Given the description of an element on the screen output the (x, y) to click on. 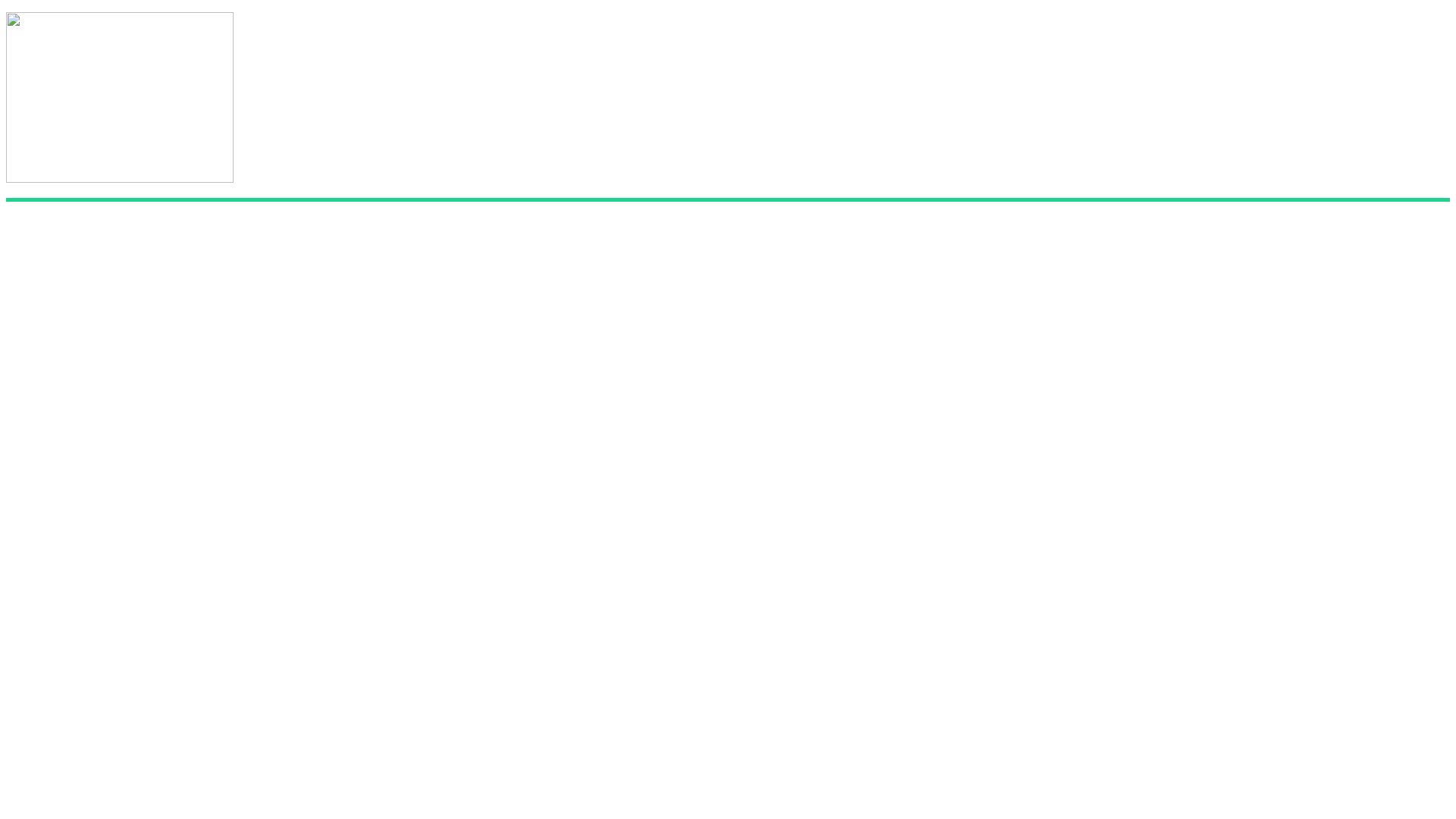
Skip to content Element type: text (5, 11)
